Given the description of an element on the screen output the (x, y) to click on. 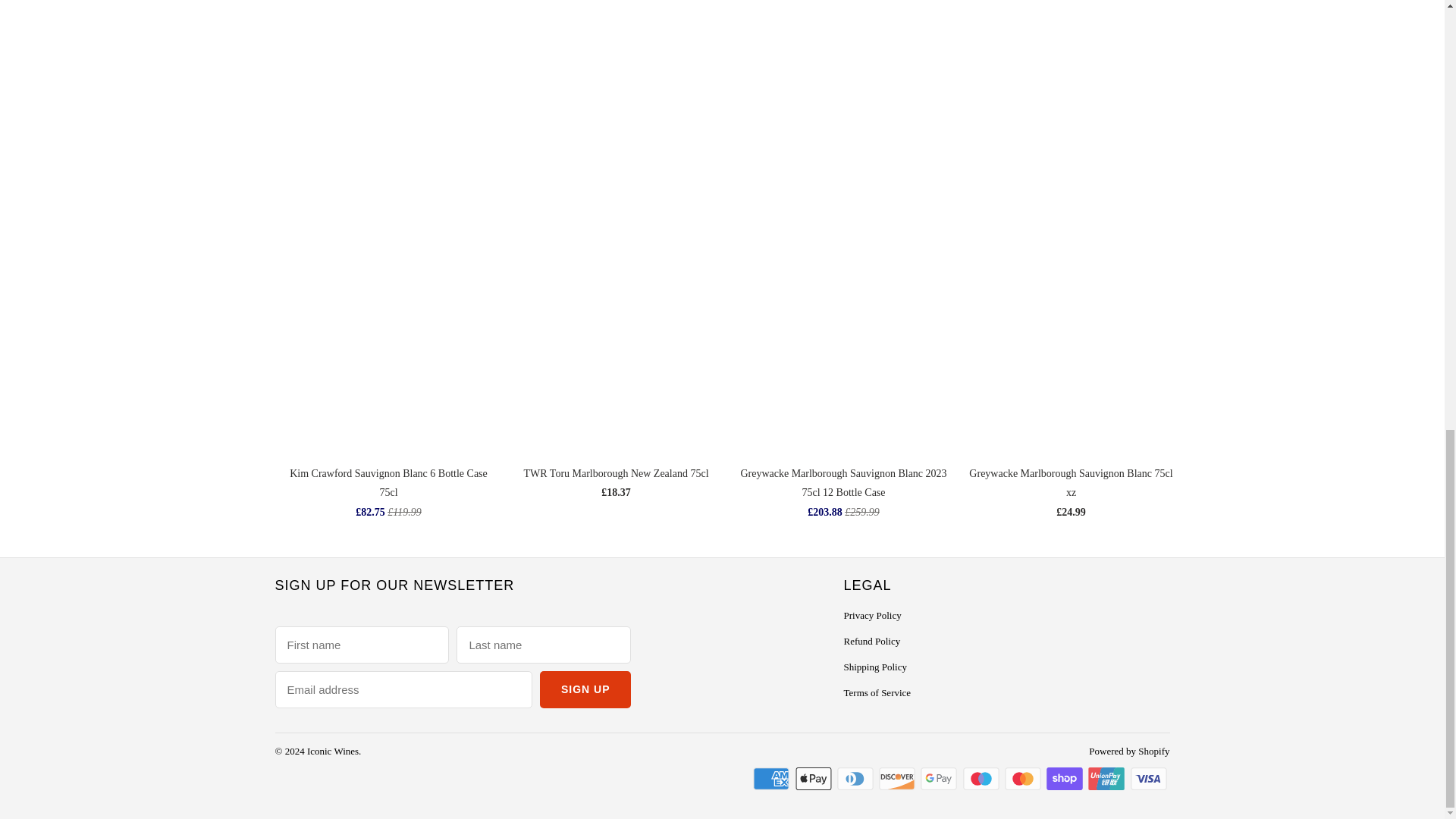
Visa (1149, 778)
Mastercard (1023, 778)
Discover (898, 778)
Google Pay (939, 778)
Maestro (982, 778)
American Express (772, 778)
Shop Pay (1066, 778)
Diners Club (856, 778)
Sign Up (585, 689)
Apple Pay (814, 778)
Union Pay (1106, 778)
